Given the description of an element on the screen output the (x, y) to click on. 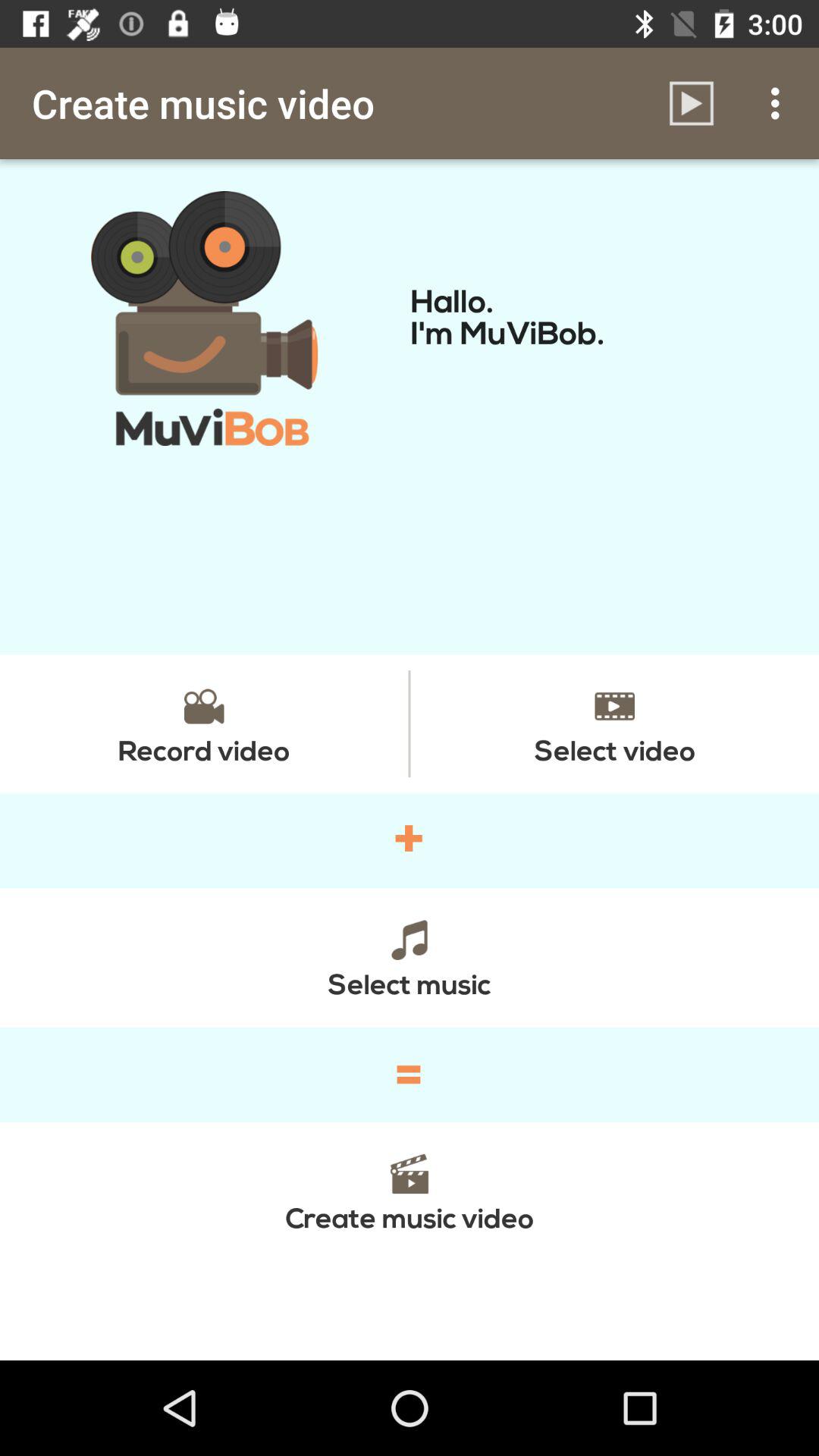
turn off the icon above = icon (409, 957)
